Given the description of an element on the screen output the (x, y) to click on. 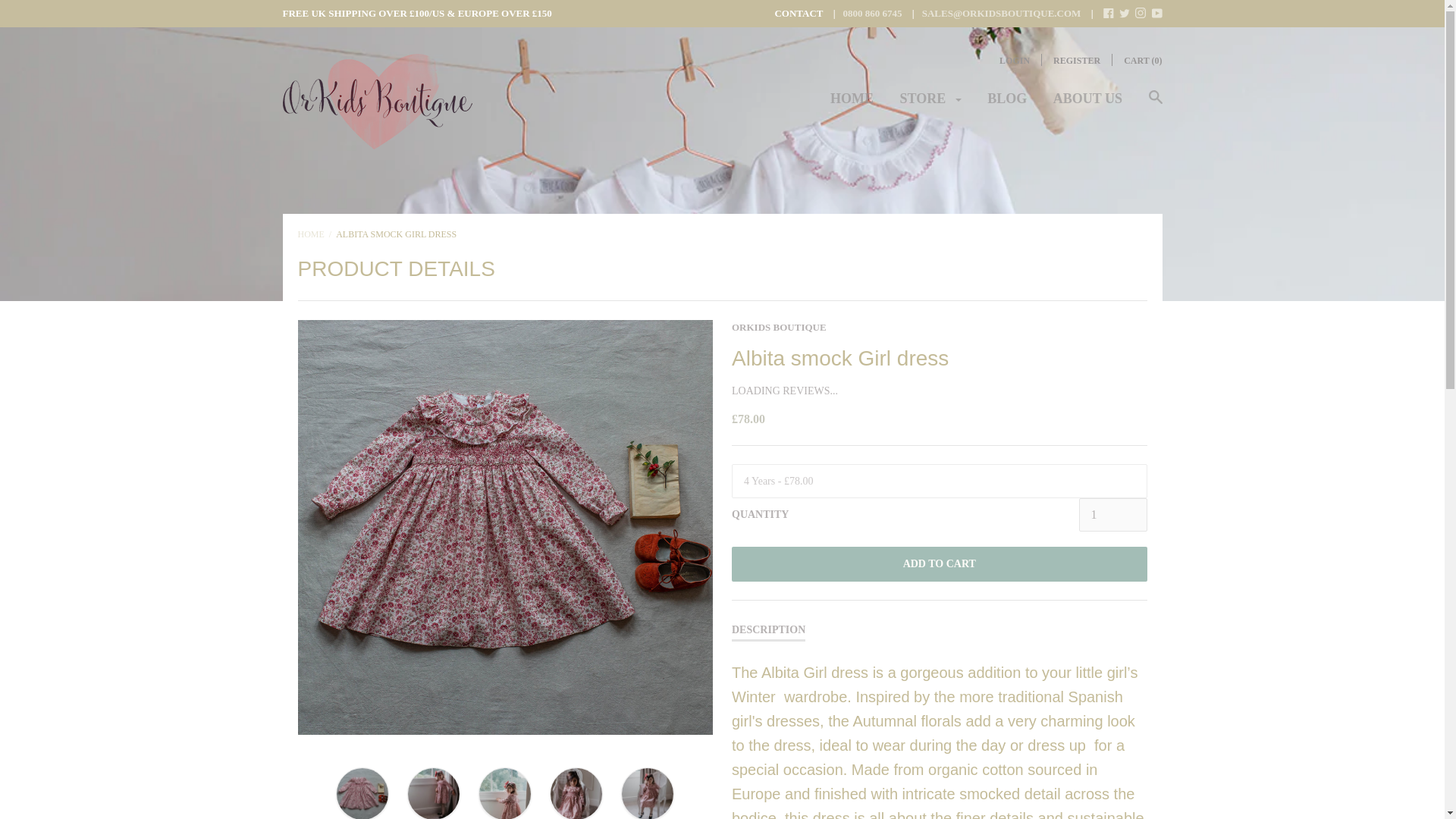
YouTube (1156, 12)
Instagram (1140, 14)
YouTube (1156, 14)
Facebook (1108, 14)
Instagram (1140, 12)
Twitter (1124, 14)
Twitter (1124, 12)
1 (1112, 514)
Facebook (1108, 12)
